Given the description of an element on the screen output the (x, y) to click on. 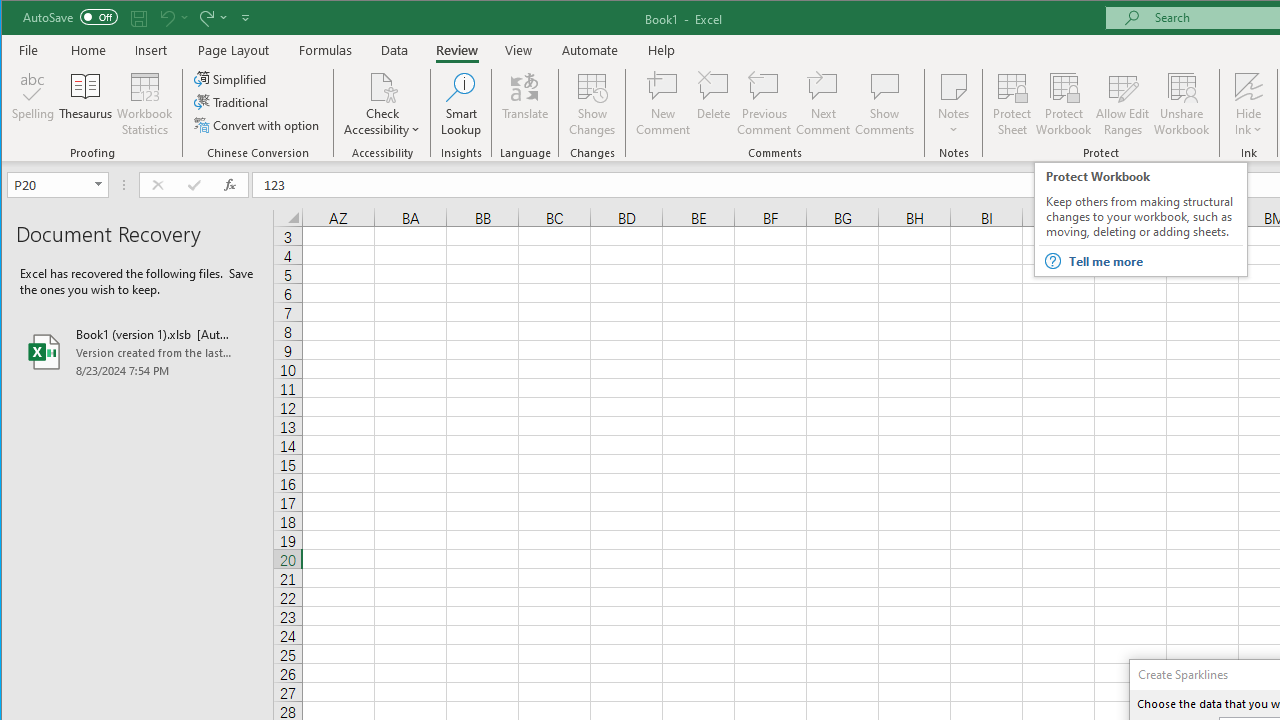
Previous Comment (763, 104)
Allow Edit Ranges (1123, 104)
Traditional (232, 101)
Show Changes (592, 104)
AutoSave (70, 16)
Class: NetUIImage (1052, 260)
Delete (713, 104)
Translate (525, 104)
Spelling... (33, 104)
